Given the description of an element on the screen output the (x, y) to click on. 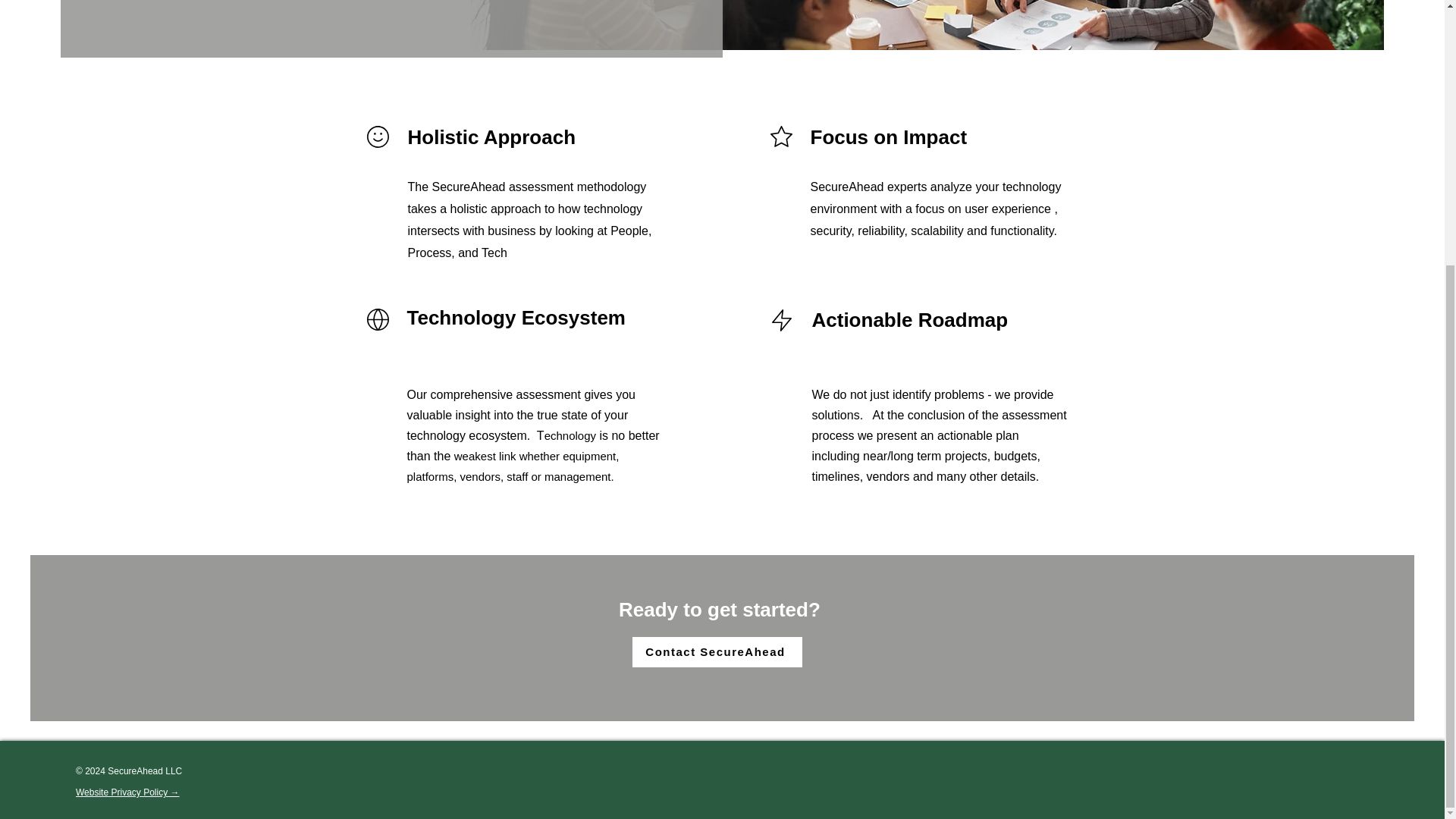
Contact SecureAhead (716, 652)
